Given the description of an element on the screen output the (x, y) to click on. 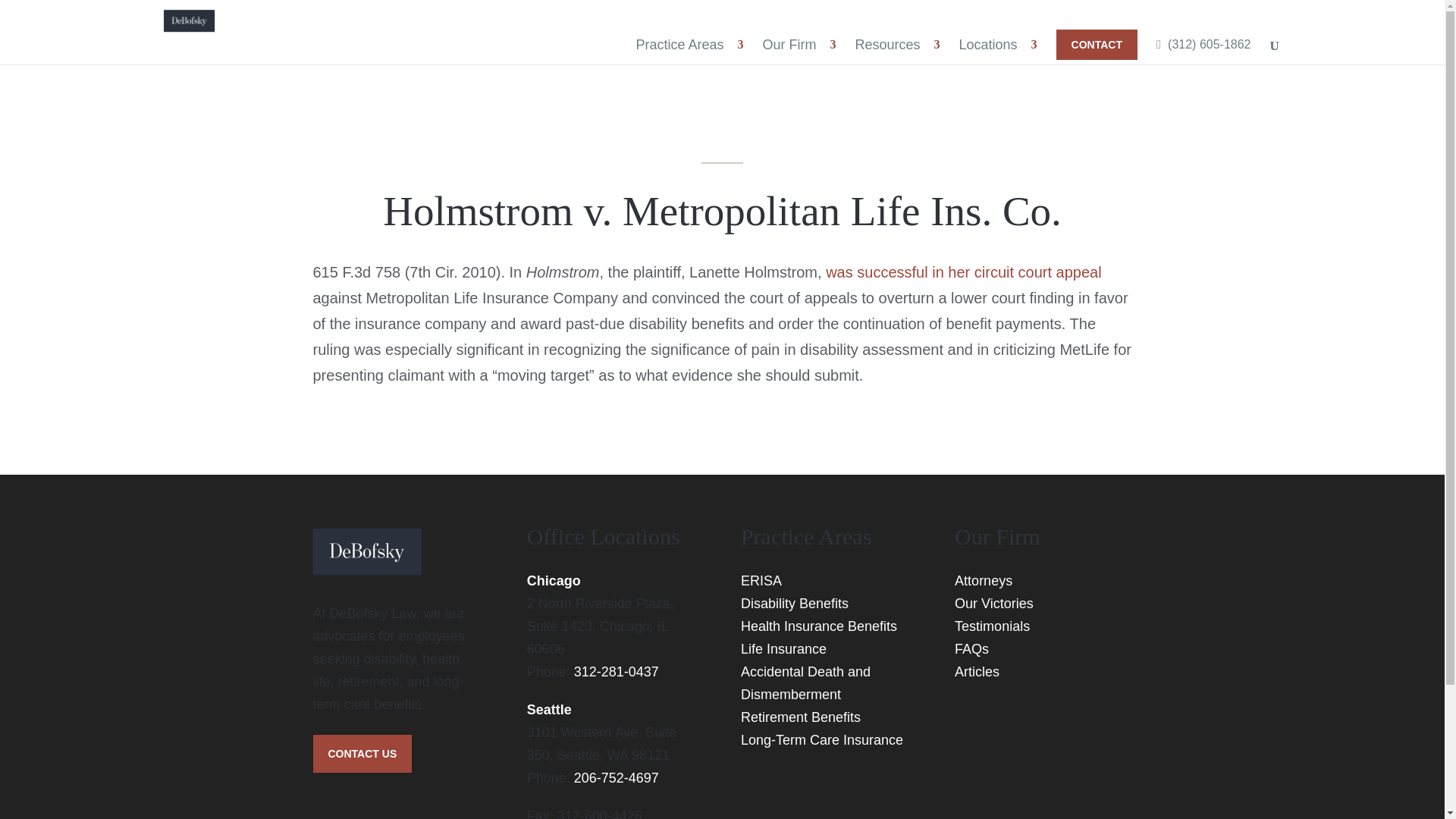
Locations (990, 44)
Our Firm (791, 44)
Customer reviews (1009, 764)
Practice Areas (681, 44)
Resources (889, 44)
CONTACT (1097, 44)
